Given the description of an element on the screen output the (x, y) to click on. 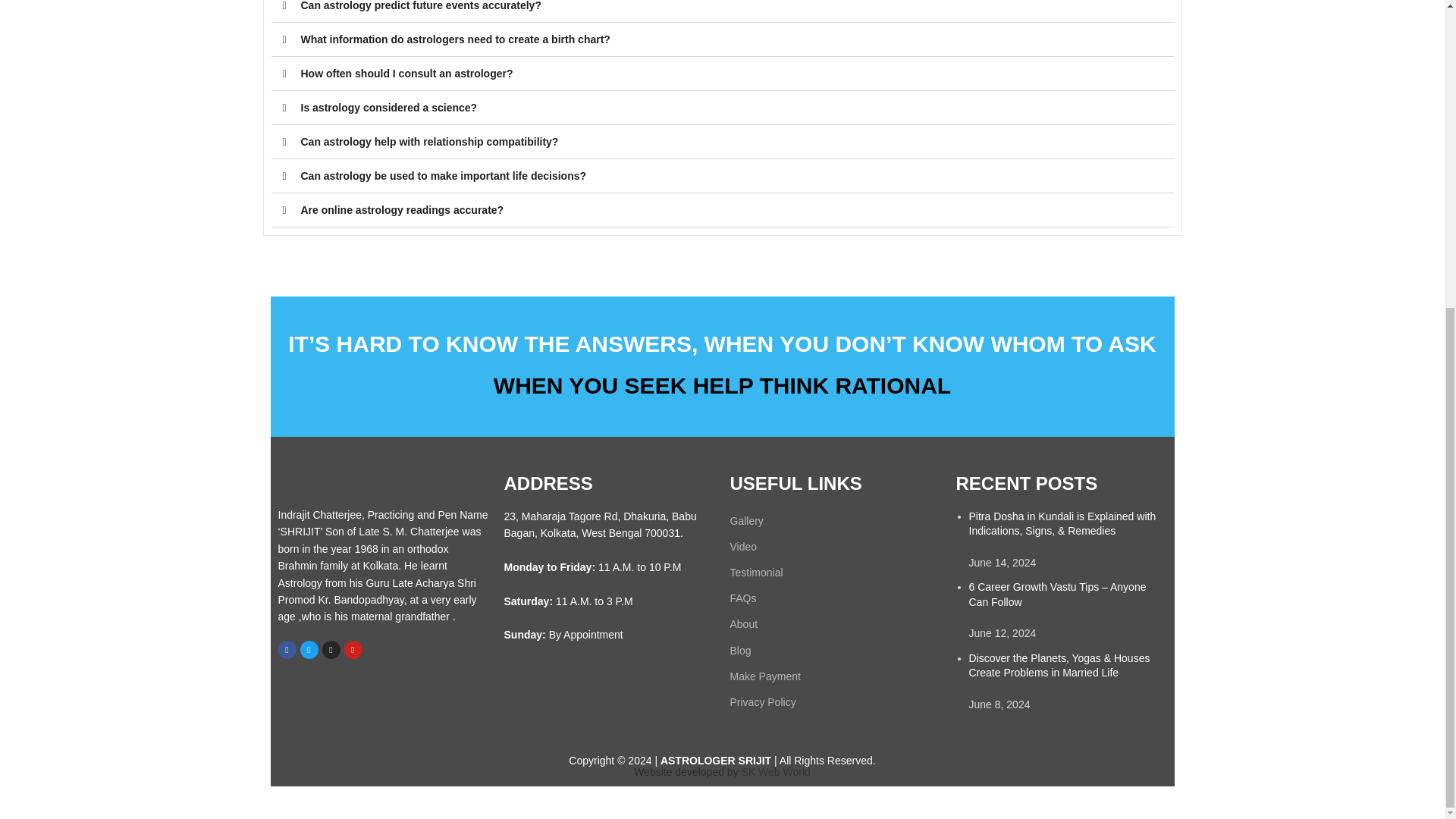
Testimonial (834, 572)
Can astrology help with relationship compatibility? (428, 141)
Gallery (834, 520)
How often should I consult an astrologer? (405, 73)
Can astrology be used to make important life decisions? (442, 175)
Are online astrology readings accurate? (401, 209)
Can astrology predict future events accurately? (419, 5)
Video (834, 546)
Is astrology considered a science? (388, 107)
